Given the description of an element on the screen output the (x, y) to click on. 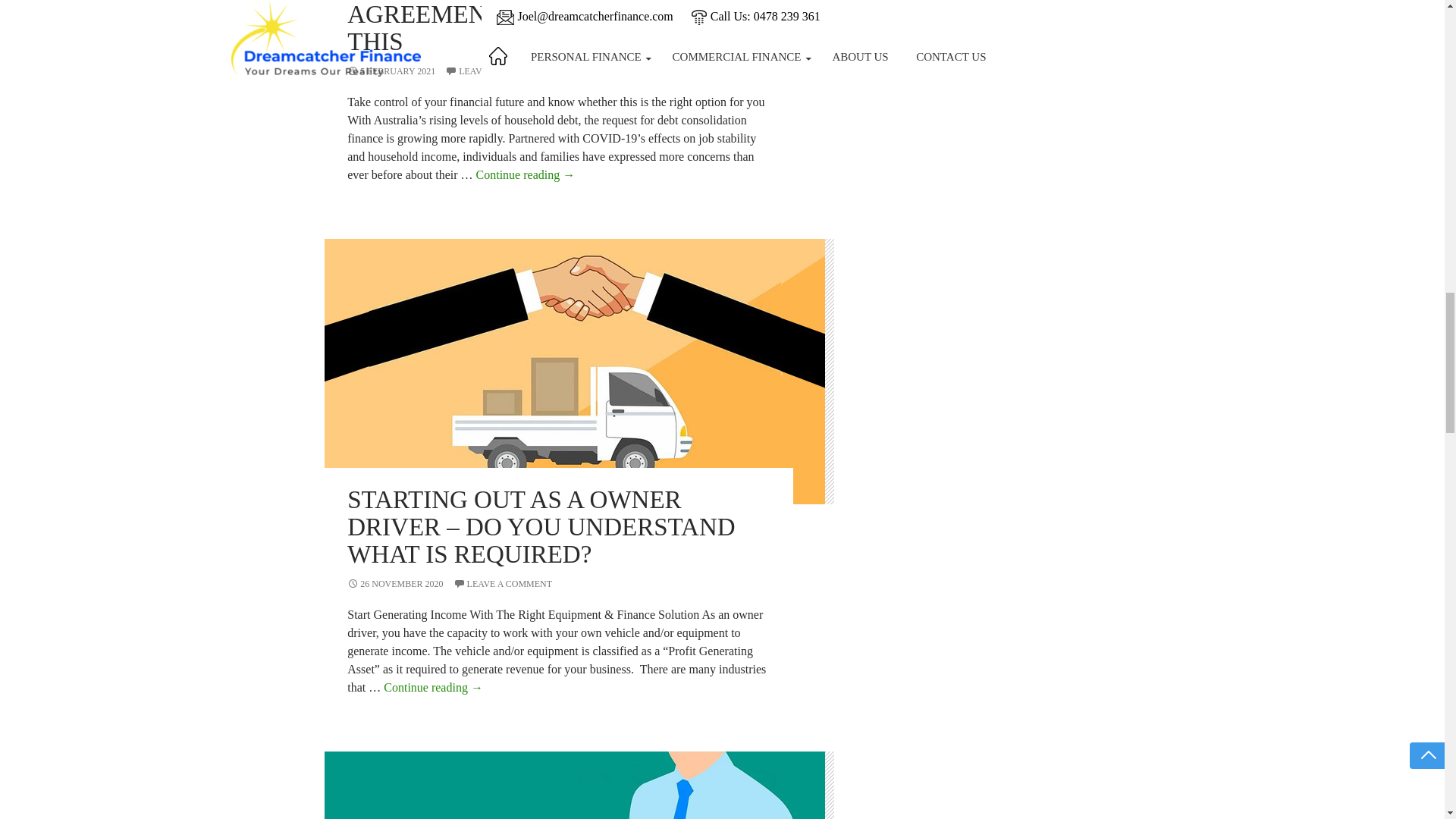
5 FEBRUARY 2021 (391, 71)
